Given the description of an element on the screen output the (x, y) to click on. 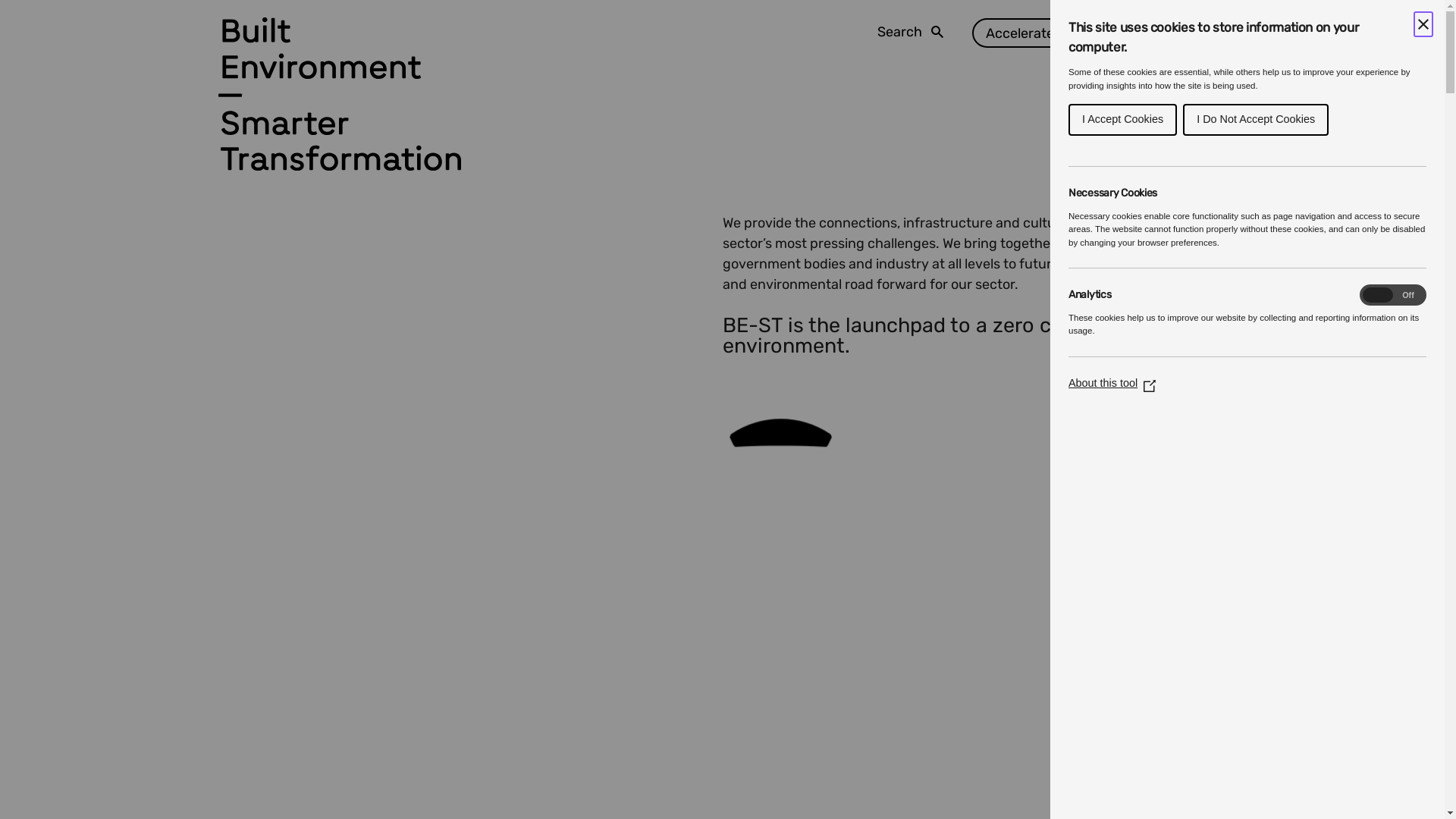
About this tool
(Opens in a new window) Element type: text (1111, 382)
I Do Not Accept Cookies Element type: text (1255, 119)
submit Element type: text (993, 163)
I Accept Cookies Element type: text (1122, 119)
Home Element type: hover (339, 26)
Accelerate to Zero Element type: text (1043, 32)
